Given the description of an element on the screen output the (x, y) to click on. 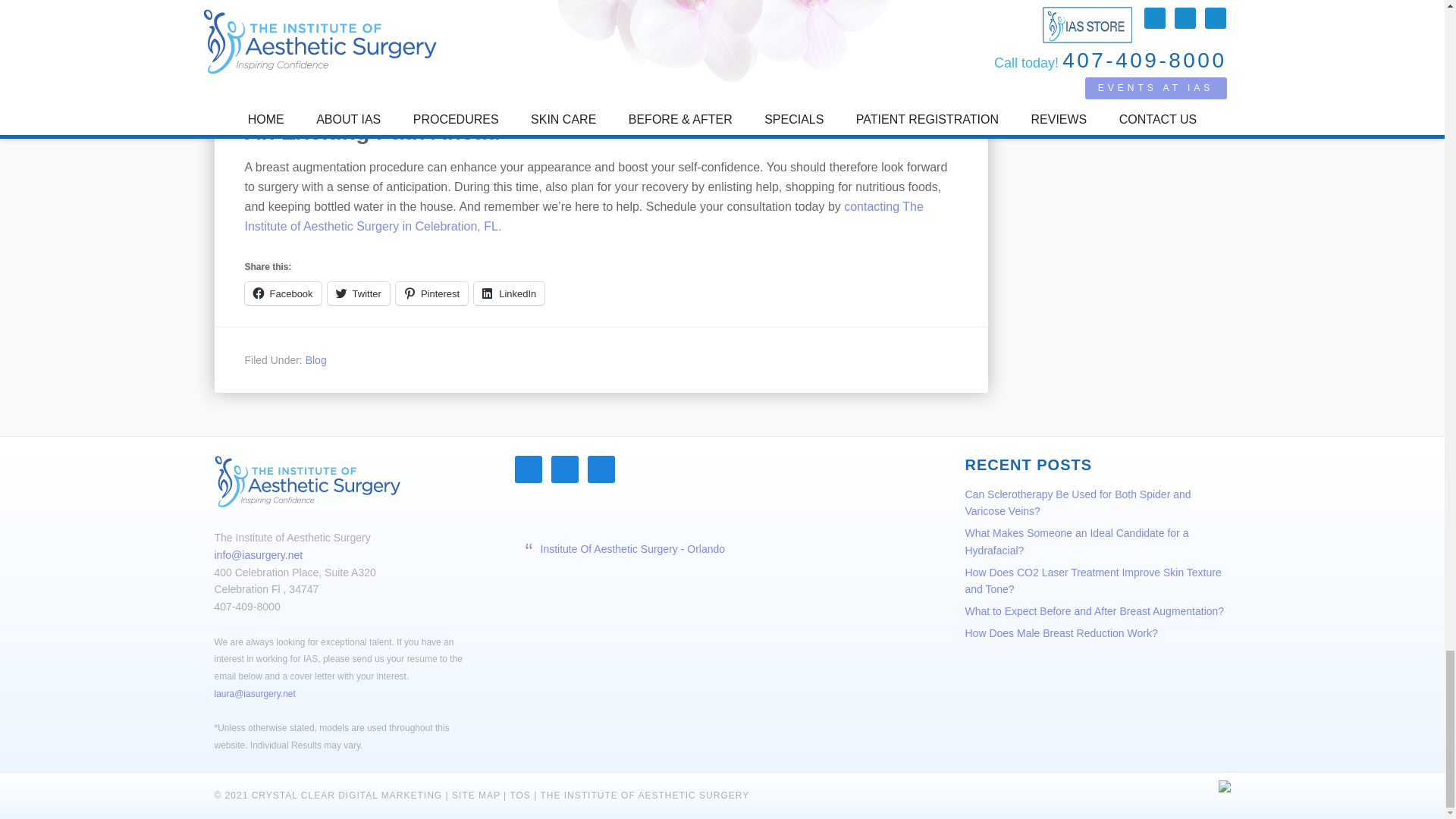
Click to share on LinkedIn (509, 292)
Click to share on Twitter (358, 292)
Click to share on Pinterest (431, 292)
Click to share on Facebook (282, 292)
